Given the description of an element on the screen output the (x, y) to click on. 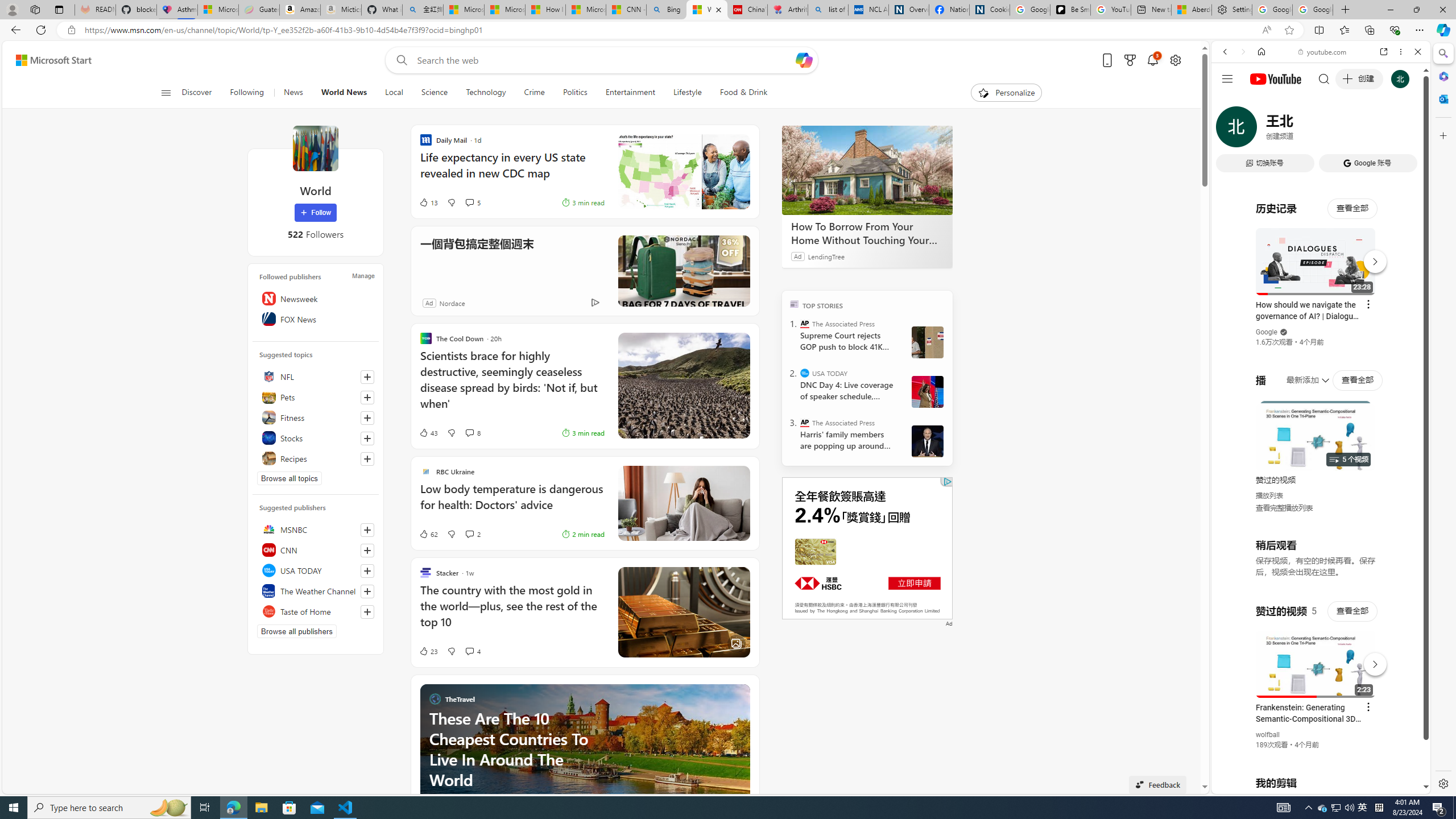
Stocks (315, 437)
Politics (574, 92)
Fitness (315, 417)
Entertainment (629, 92)
Technology (485, 92)
Enter your search term (603, 59)
Close Customize pane (1442, 135)
Class: qc-adchoices-icon (947, 481)
